Given the description of an element on the screen output the (x, y) to click on. 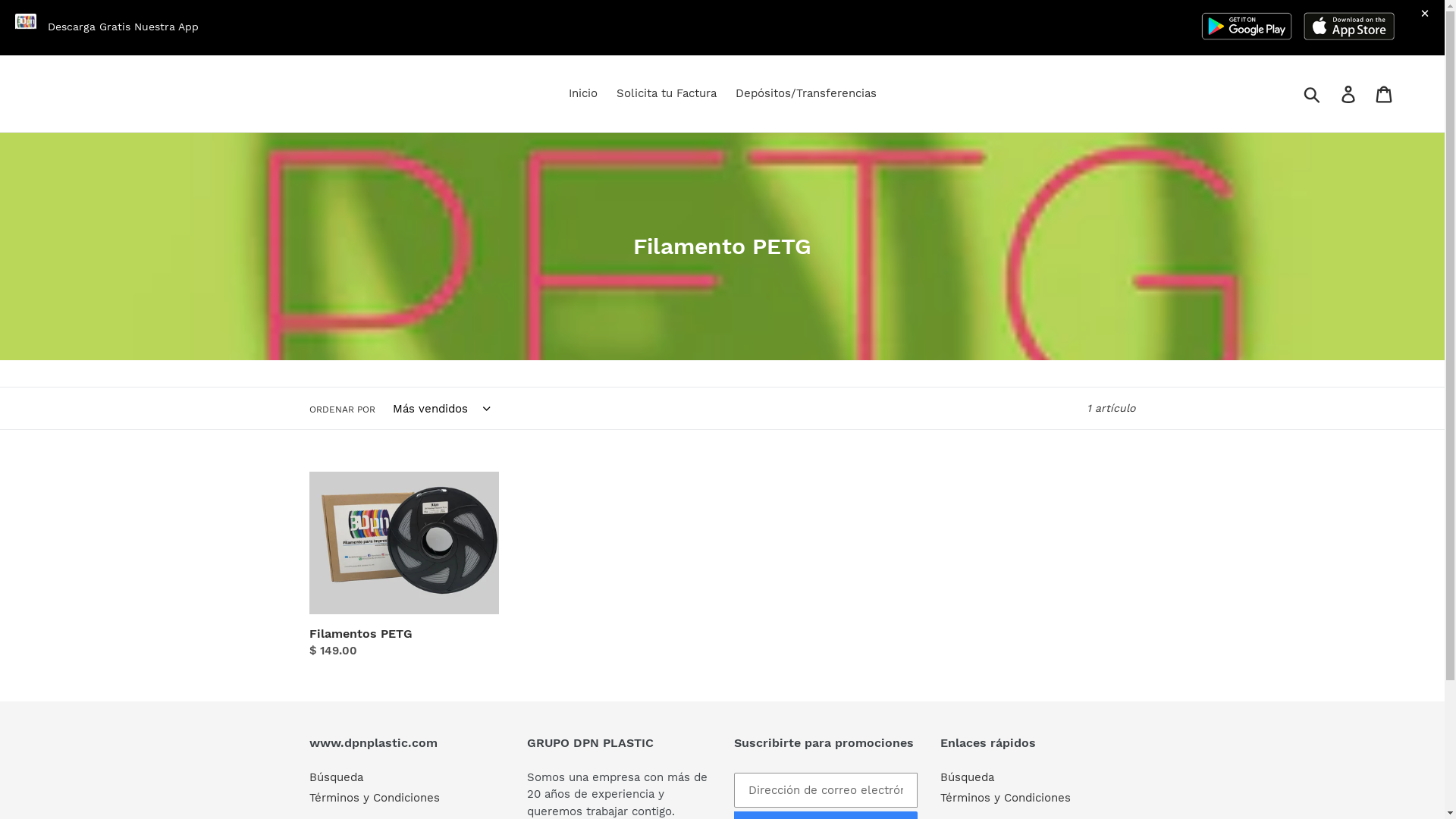
Play Store Element type: hover (1246, 26)
Solicita tu Factura Element type: text (665, 93)
Carrito Element type: text (1384, 93)
Filamentos PETG Element type: text (403, 565)
App Store Element type: hover (1348, 26)
Buscar Element type: text (1312, 93)
Inicio Element type: text (583, 93)
Ingresar Element type: text (1349, 93)
